Given the description of an element on the screen output the (x, y) to click on. 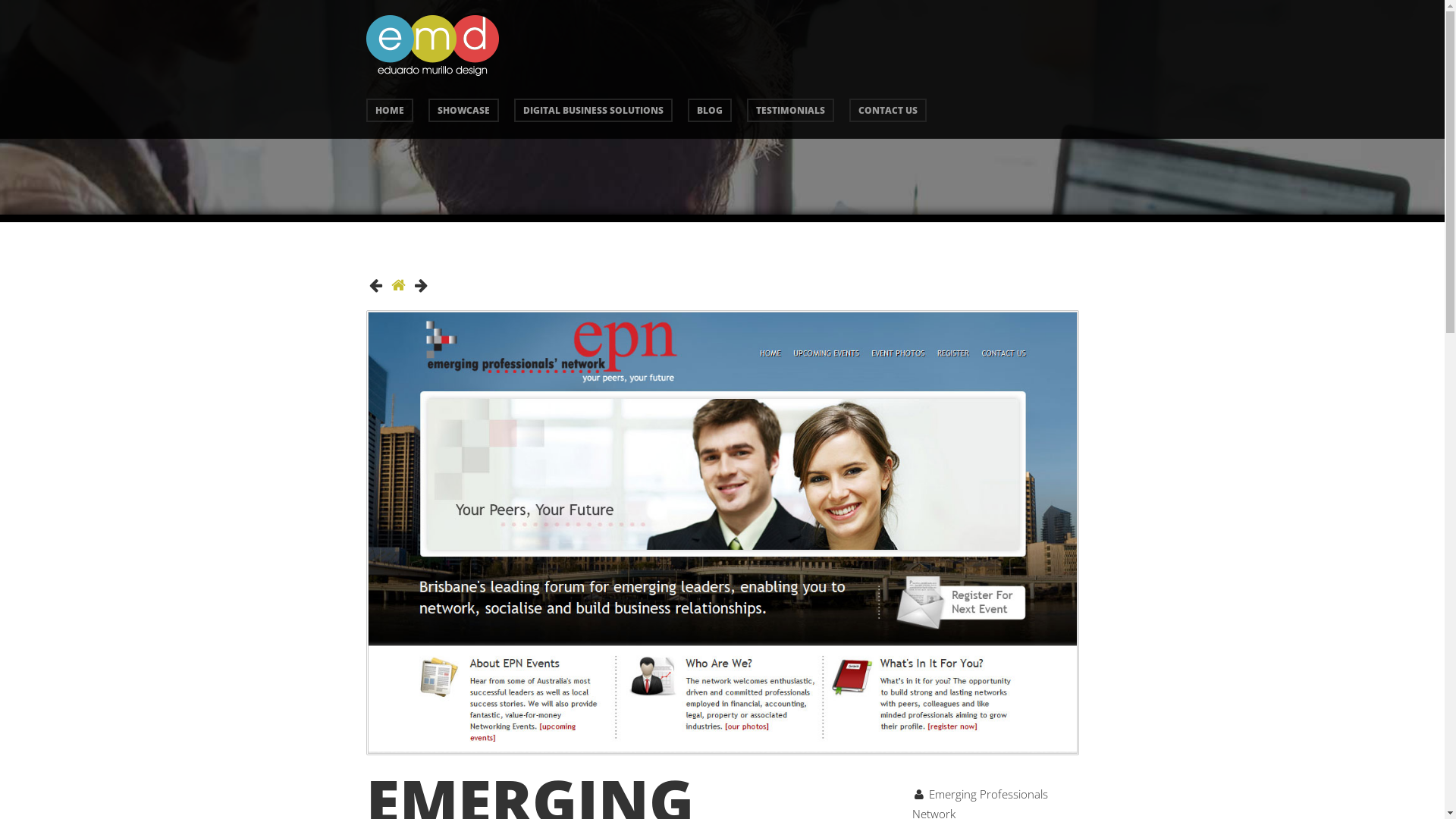
BLOG Element type: text (709, 110)
Eduardo Murillo Design Element type: hover (431, 71)
TESTIMONIALS Element type: text (789, 110)
CONTACT US Element type: text (887, 110)
DIGITAL BUSINESS SOLUTIONS Element type: text (593, 110)
SHOWCASE Element type: text (462, 110)
HOME Element type: text (388, 110)
